Given the description of an element on the screen output the (x, y) to click on. 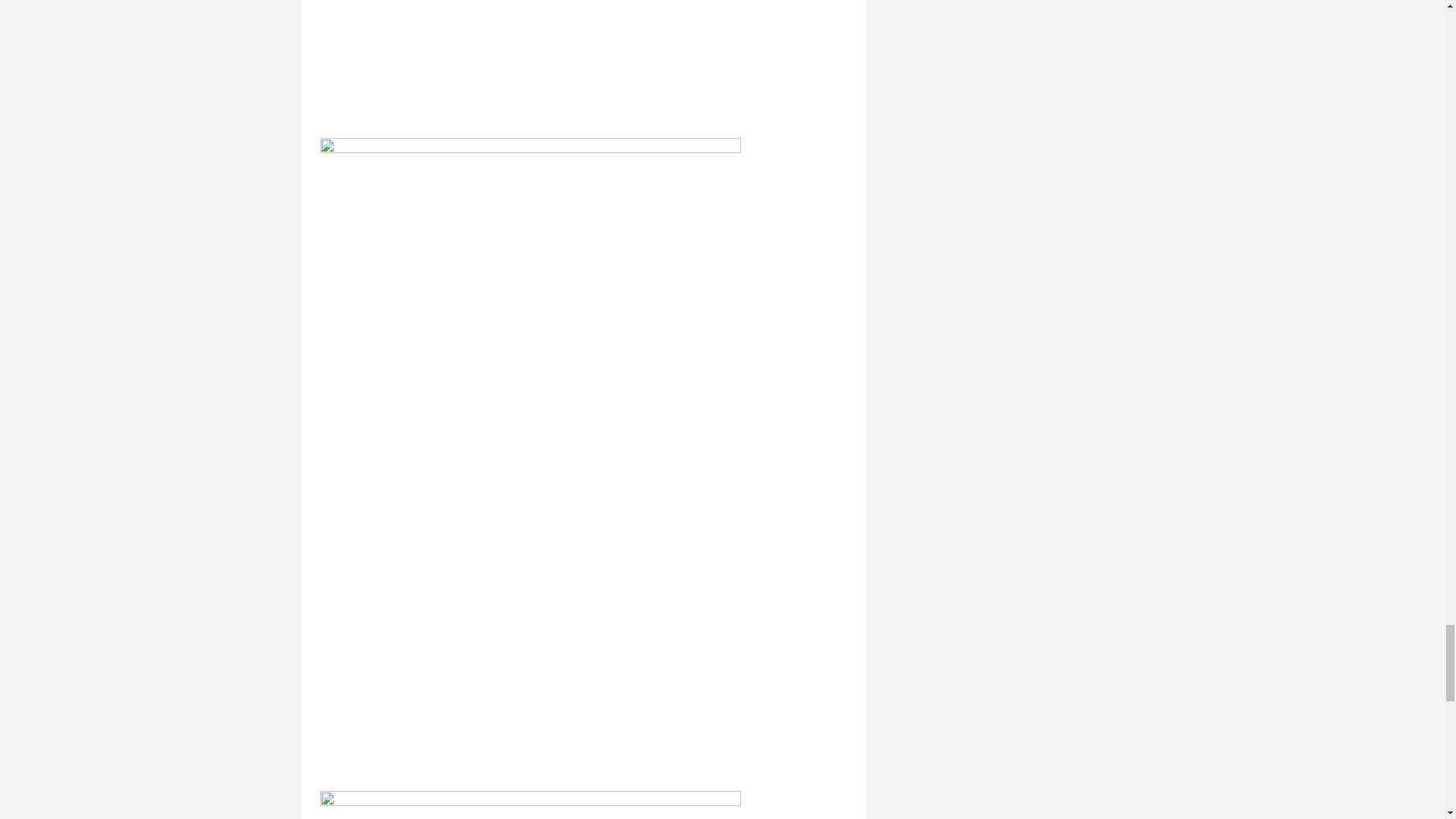
FraternityX: Party Foul (530, 805)
FraternityX: Party Foul (530, 59)
